Given the description of an element on the screen output the (x, y) to click on. 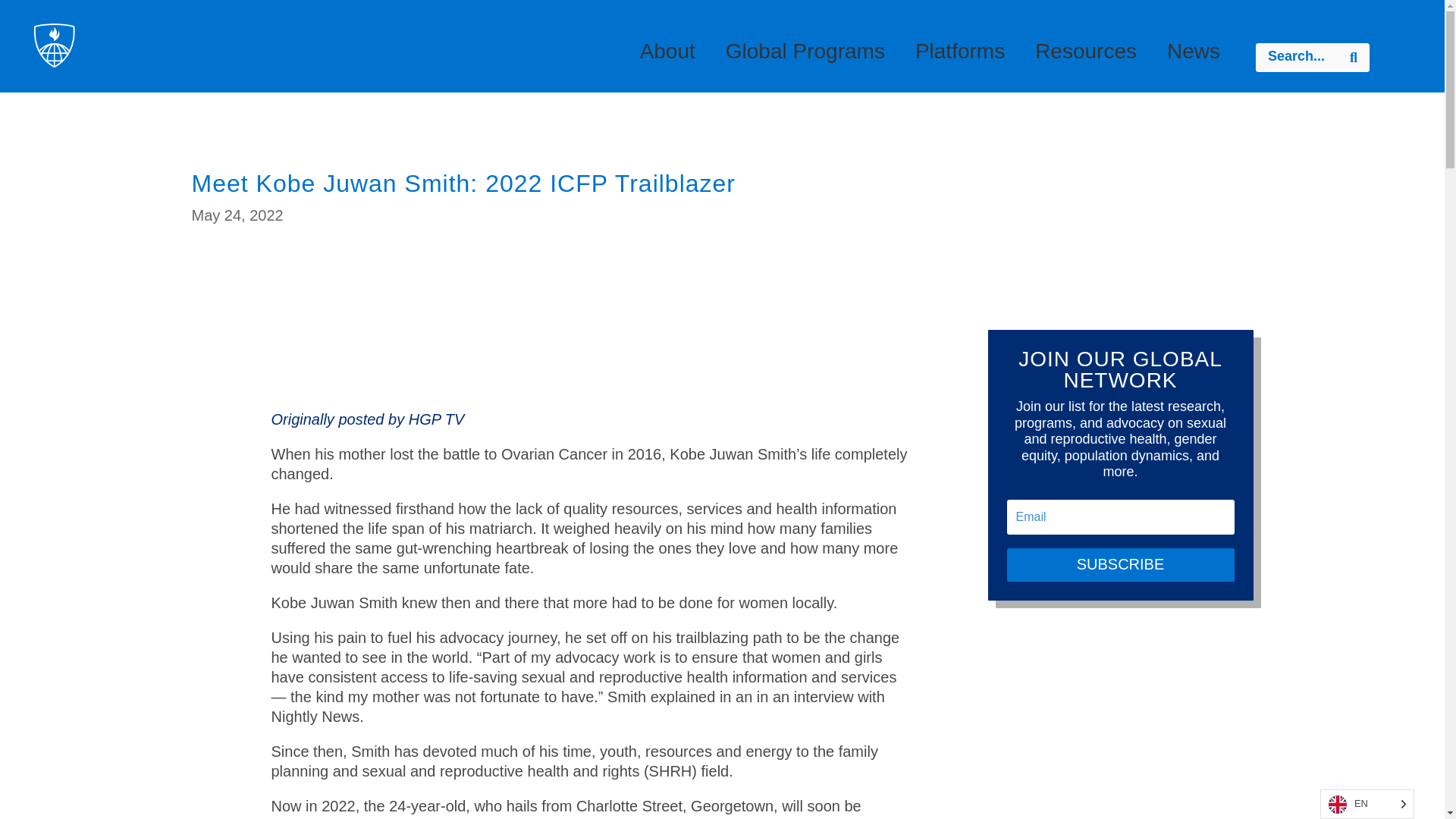
Global Programs (804, 58)
Resources (1085, 58)
News (1192, 58)
SUBSCRIBE (1120, 564)
Platforms (959, 58)
About (667, 58)
Search (1353, 57)
Originally posted by HGP TV (367, 419)
